Given the description of an element on the screen output the (x, y) to click on. 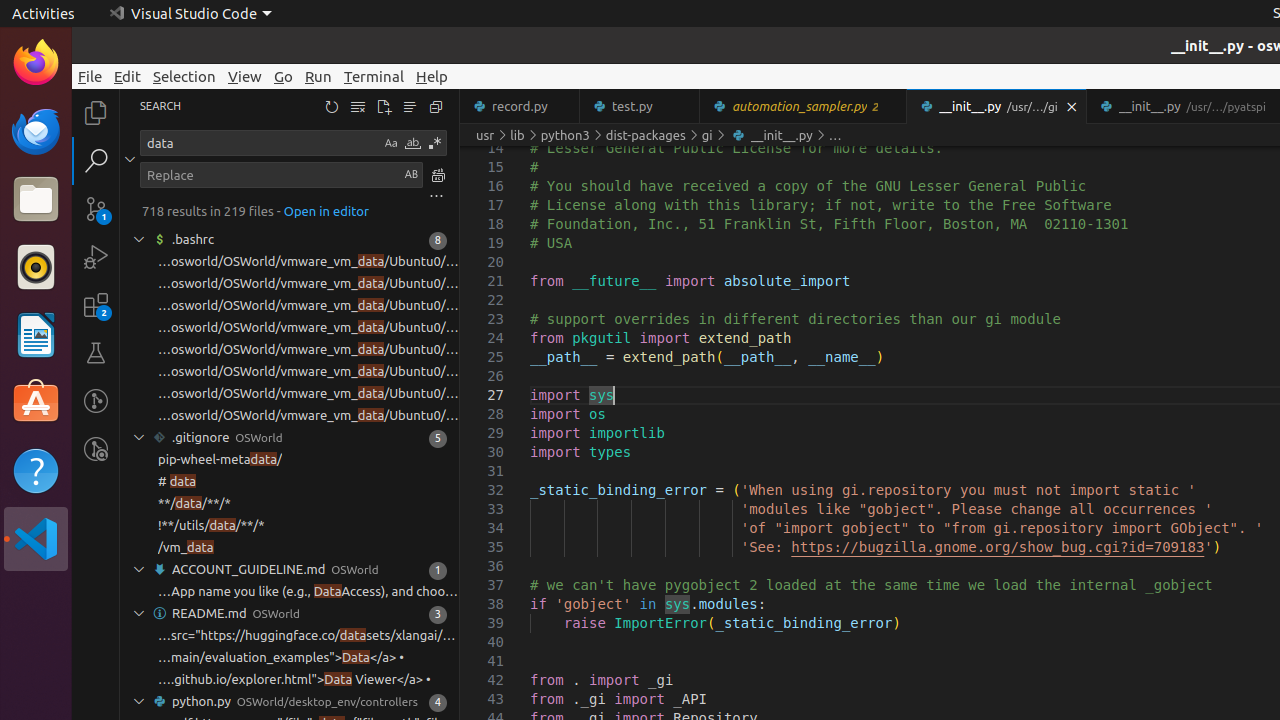
' local vm_path="/home/PJLAB/luyi1/osworld/OSWorld/vmware_vm_data/Ubuntu0/Ubuntu0.vmx"' at column 64 found data Element type: tree-item (289, 261)
' <a href="https://github.com/xlang-ai/OSWorld/tree/main/evaluation_examples">Data</a> •' at column 79 found Data Element type: tree-item (289, 657)
Edit Element type: push-button (127, 76)
